Given the description of an element on the screen output the (x, y) to click on. 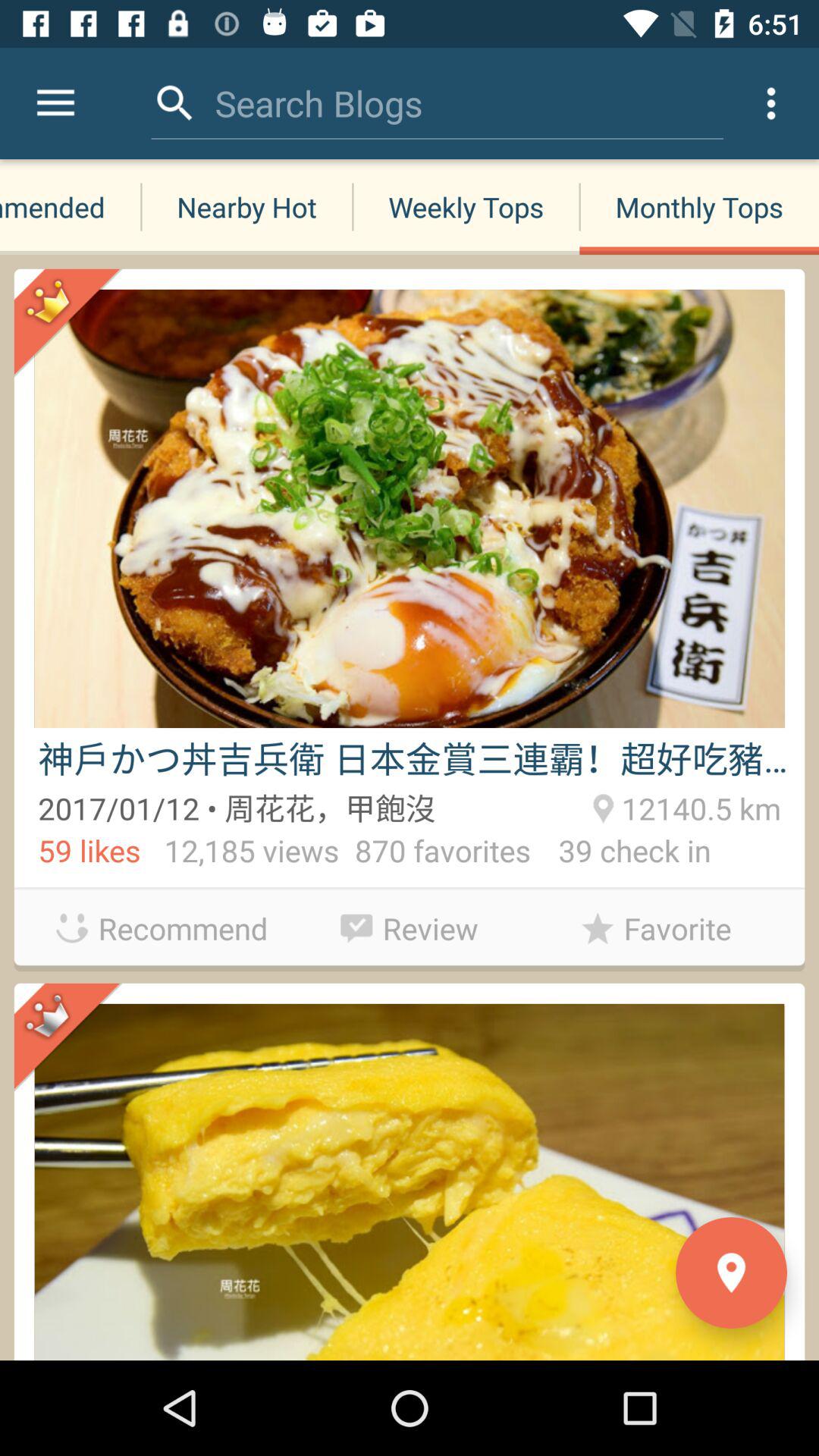
choose the item next to nearby hot (70, 206)
